Given the description of an element on the screen output the (x, y) to click on. 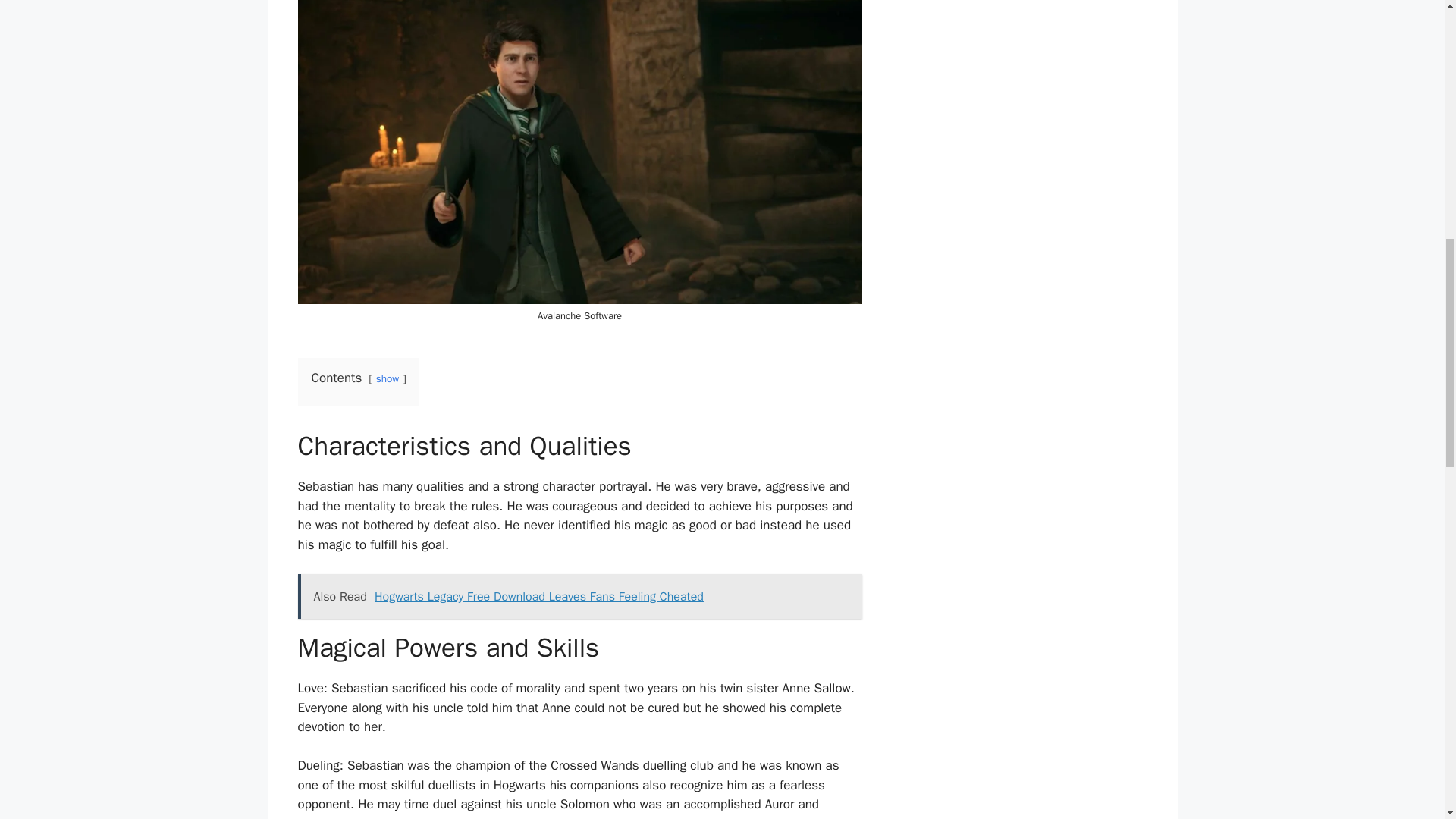
show (386, 378)
